Given the description of an element on the screen output the (x, y) to click on. 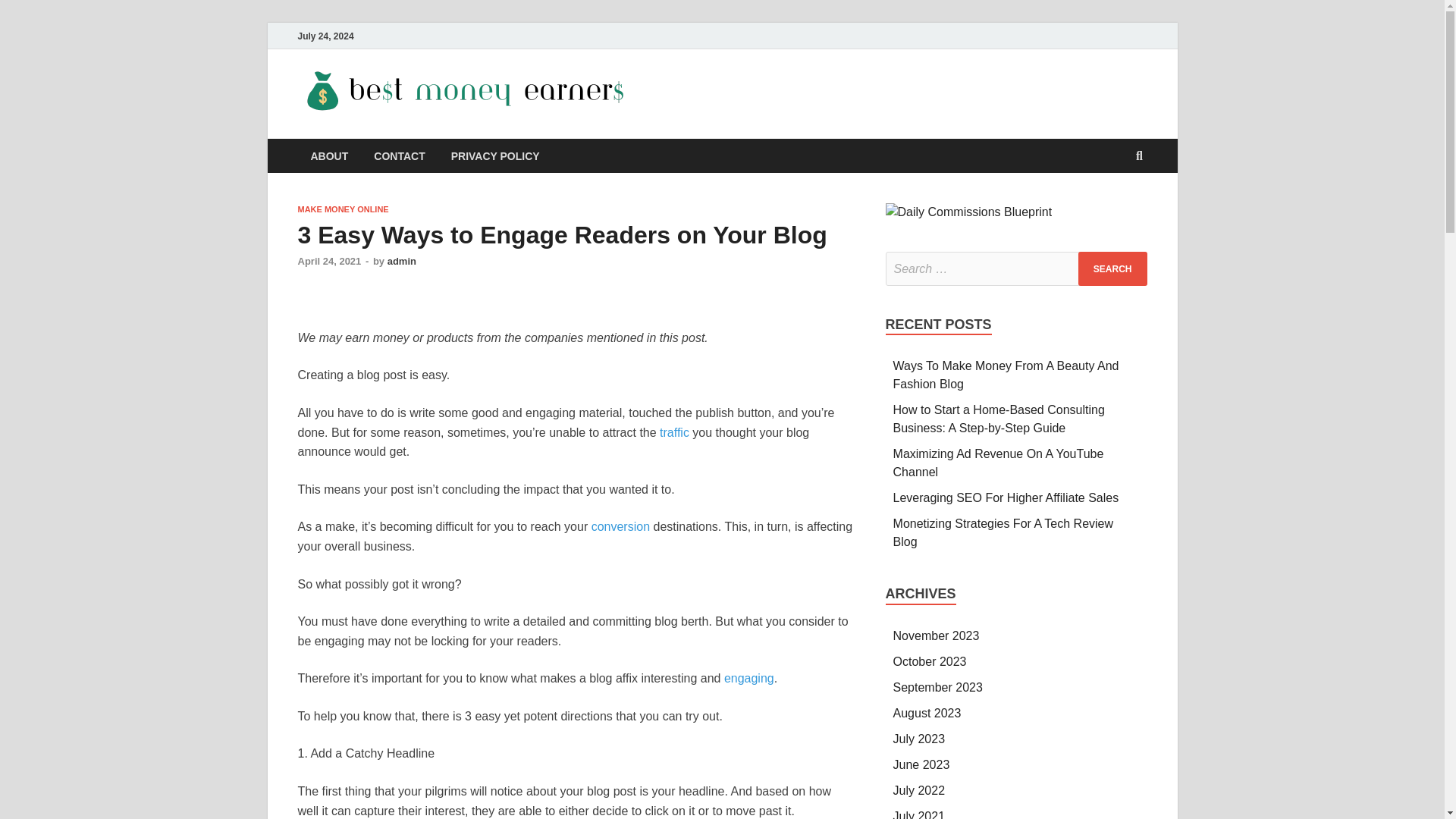
ABOUT (329, 155)
CONTACT (399, 155)
MAKE MONEY ONLINE (342, 208)
conversion (620, 526)
PRIVACY POLICY (495, 155)
Maximizing Ad Revenue On A YouTube Channel (998, 462)
Search (1112, 268)
admin (401, 260)
Search (1112, 268)
Ways To Make Money From A Beauty And Fashion Blog (1006, 374)
April 24, 2021 (329, 260)
traffic (673, 431)
engaging (748, 677)
Search (1112, 268)
